Given the description of an element on the screen output the (x, y) to click on. 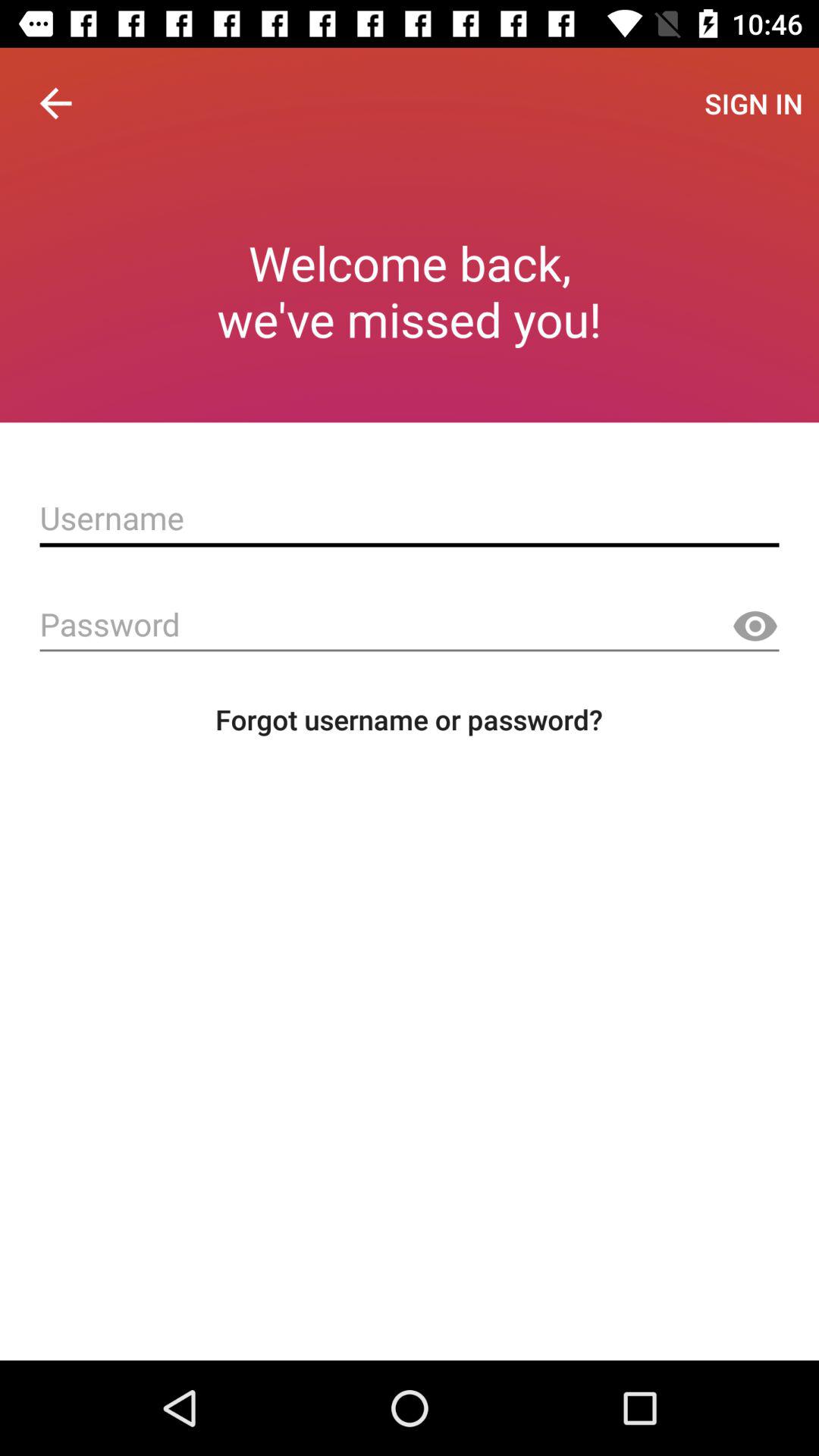
go to create account (409, 518)
